Given the description of an element on the screen output the (x, y) to click on. 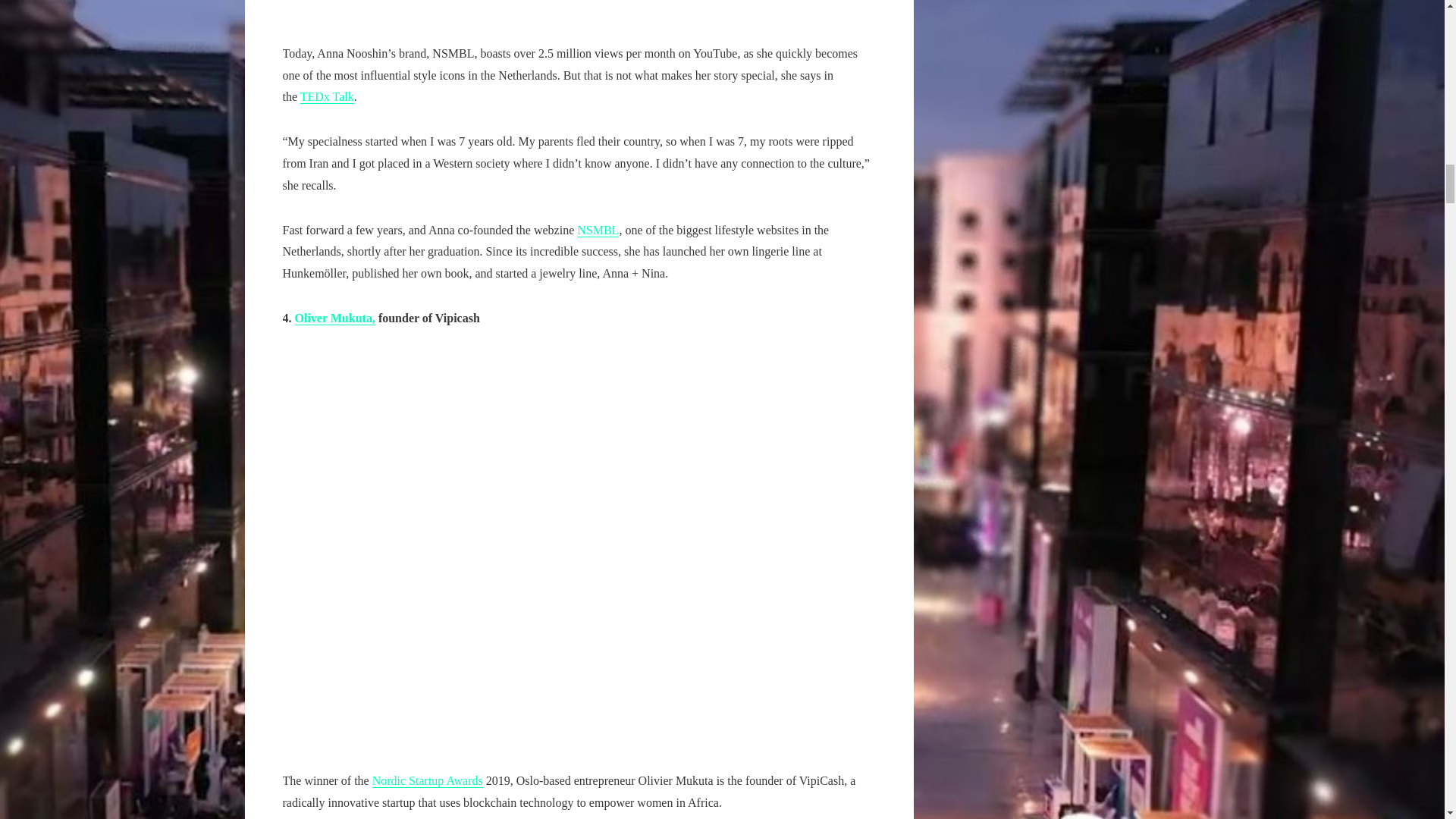
TEDx Talk (326, 97)
Oliver Mukuta, (334, 318)
Nordic Startup Awards (427, 780)
NSMBL (597, 230)
